Given the description of an element on the screen output the (x, y) to click on. 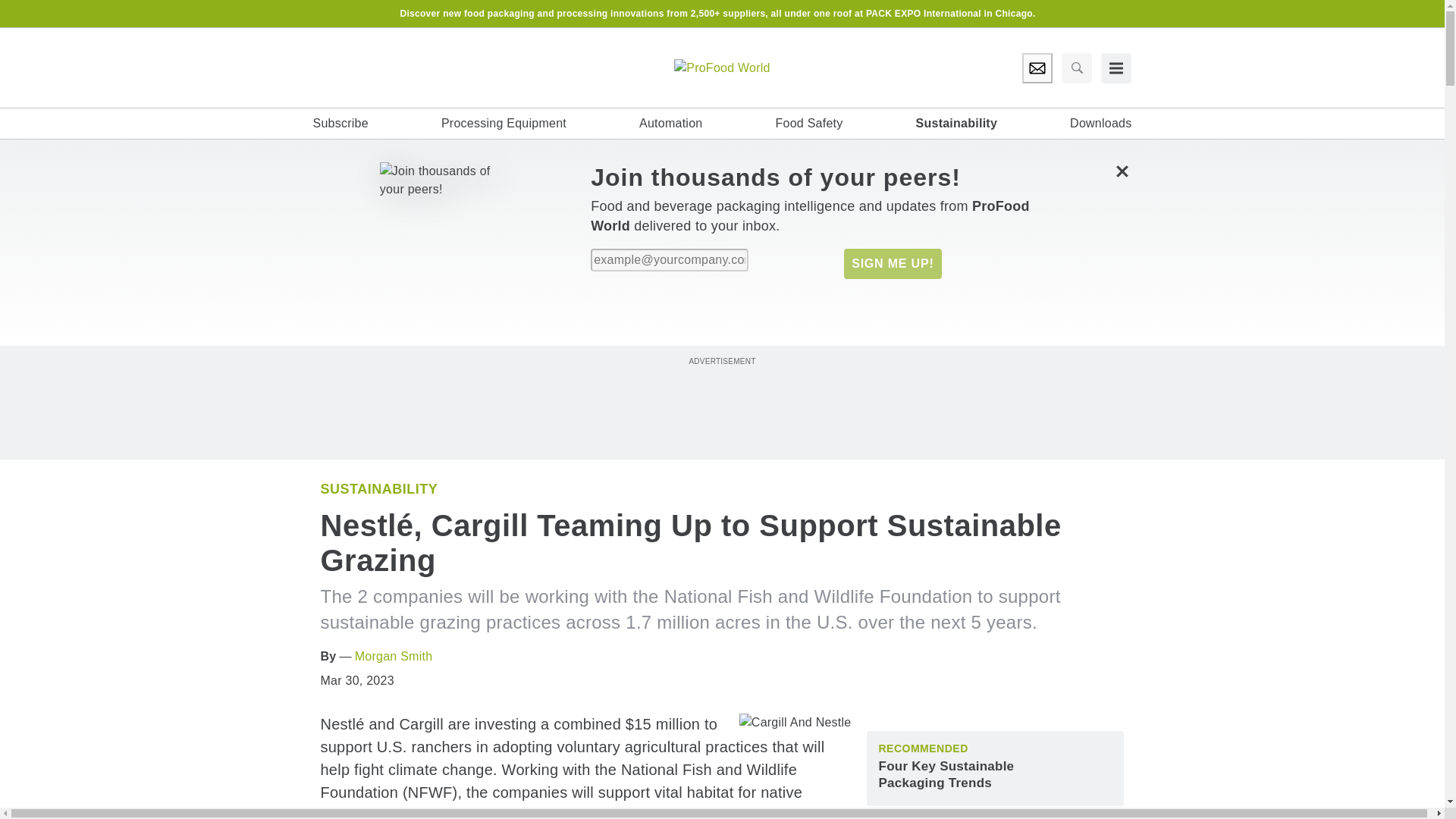
Subscribe (340, 123)
Downloads (1100, 123)
SIGN ME UP! (892, 263)
Sustainability (956, 123)
Sustainability (379, 488)
Processing Equipment (503, 123)
Automation (670, 123)
Food Safety (808, 123)
Recommended (922, 747)
